Given the description of an element on the screen output the (x, y) to click on. 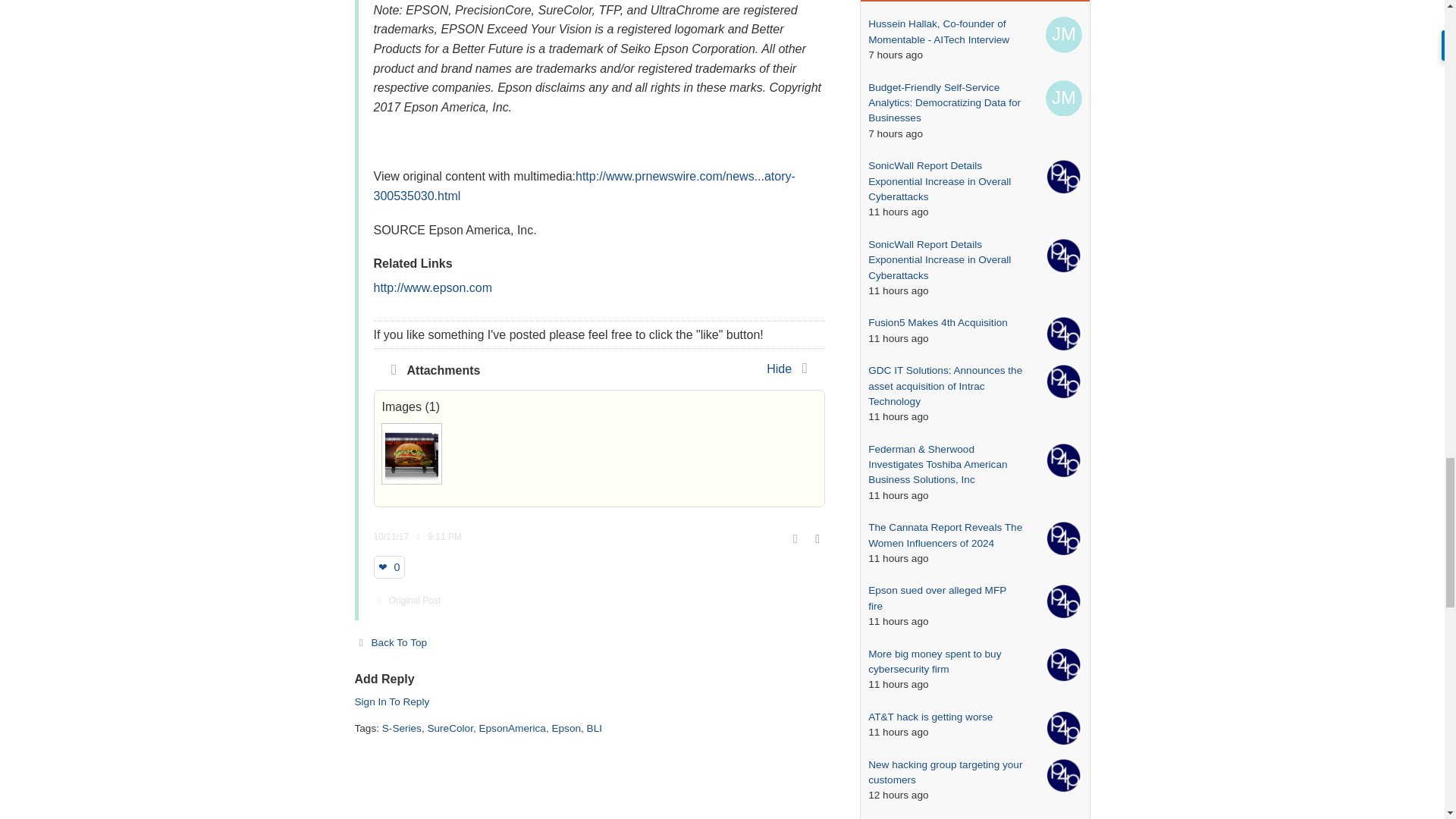
JM (1063, 98)
JM (1063, 34)
